Given the description of an element on the screen output the (x, y) to click on. 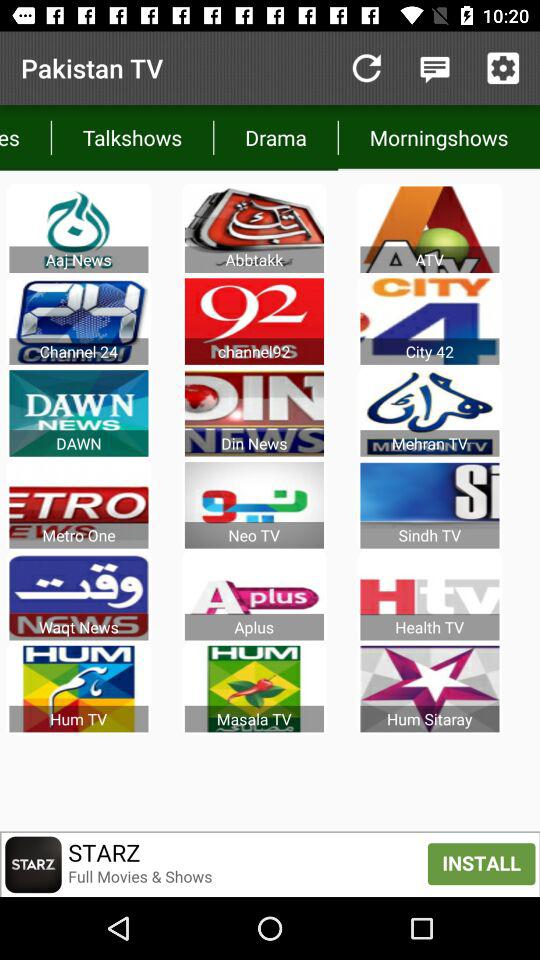
reloade (366, 67)
